Given the description of an element on the screen output the (x, y) to click on. 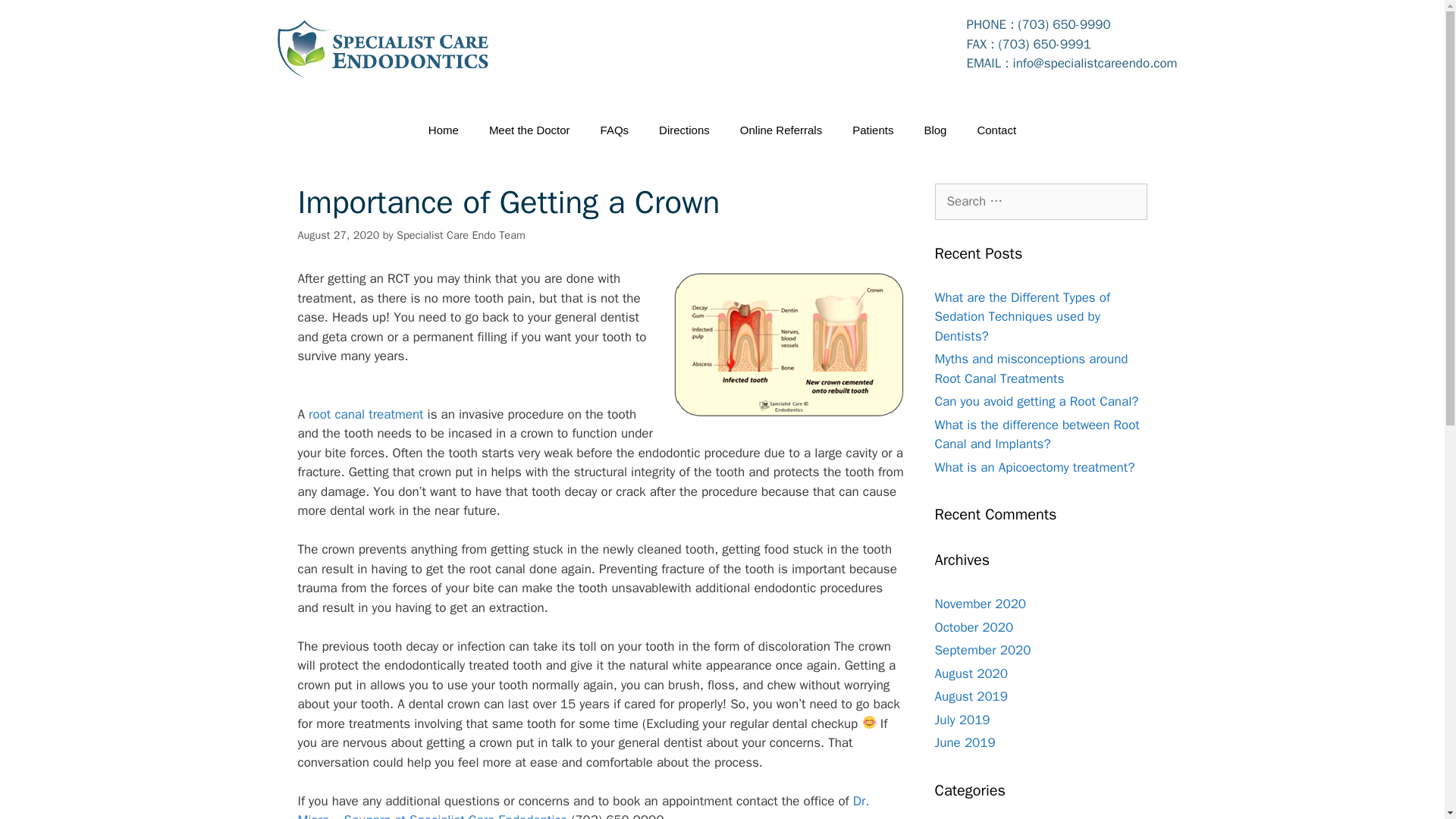
Contact (995, 130)
Online Referrals (781, 130)
Home (443, 130)
Specialist Care Endo Team (460, 234)
Patients (872, 130)
FAQs (615, 130)
What is the difference between Root Canal and Implants? (1036, 434)
Search (35, 18)
Directions (684, 130)
What is an Apicoectomy treatment? (1034, 467)
November 2020 (980, 603)
root canal treatment (365, 414)
Search for: (1040, 201)
Can you avoid getting a Root Canal? (1036, 401)
